Given the description of an element on the screen output the (x, y) to click on. 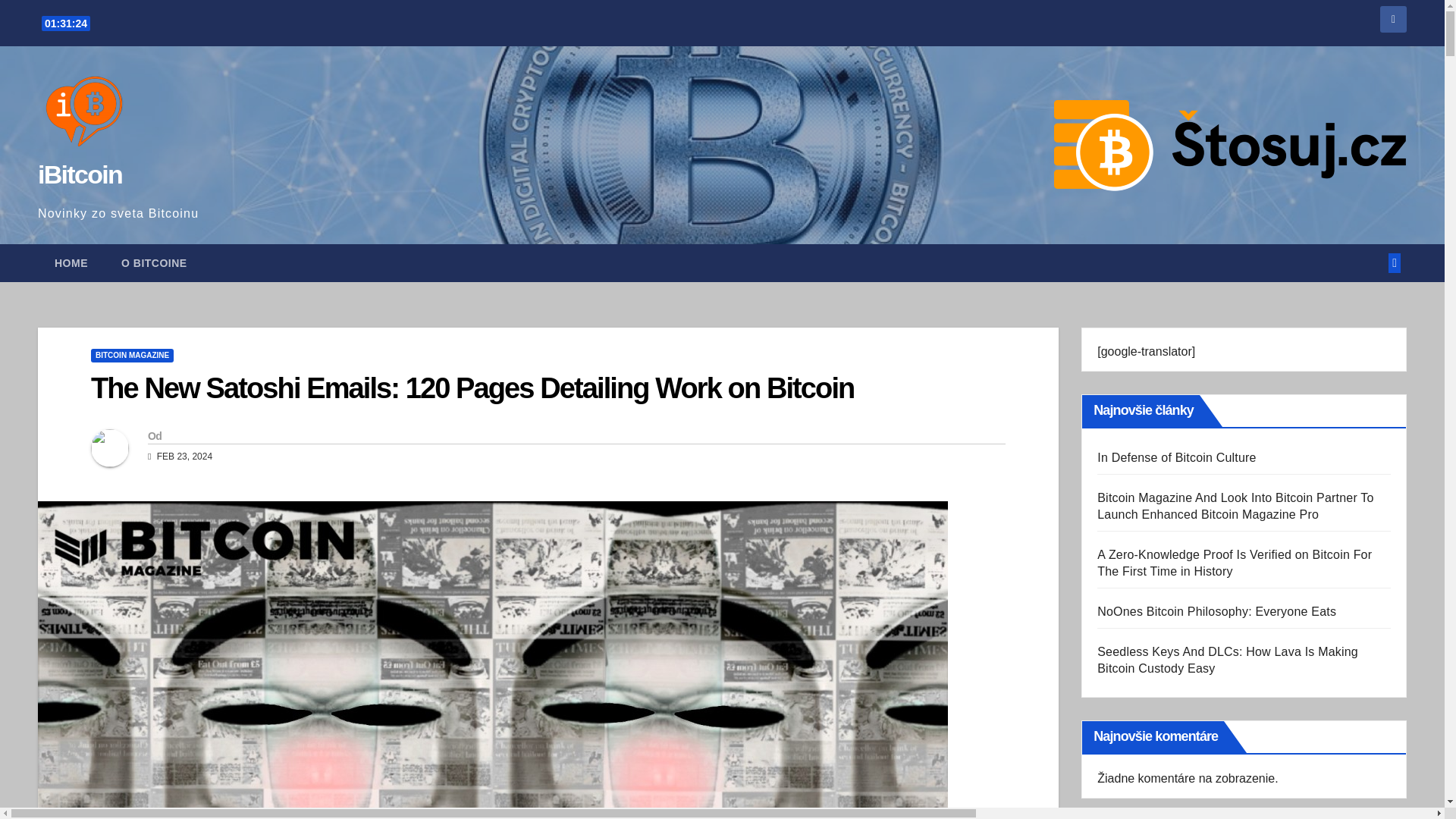
iBitcoin (79, 174)
BITCOIN MAGAZINE (131, 355)
HOME (70, 262)
Home (70, 262)
O BITCOINE (153, 262)
The New Satoshi Emails: 120 Pages Detailing Work on Bitcoin (471, 388)
